Given the description of an element on the screen output the (x, y) to click on. 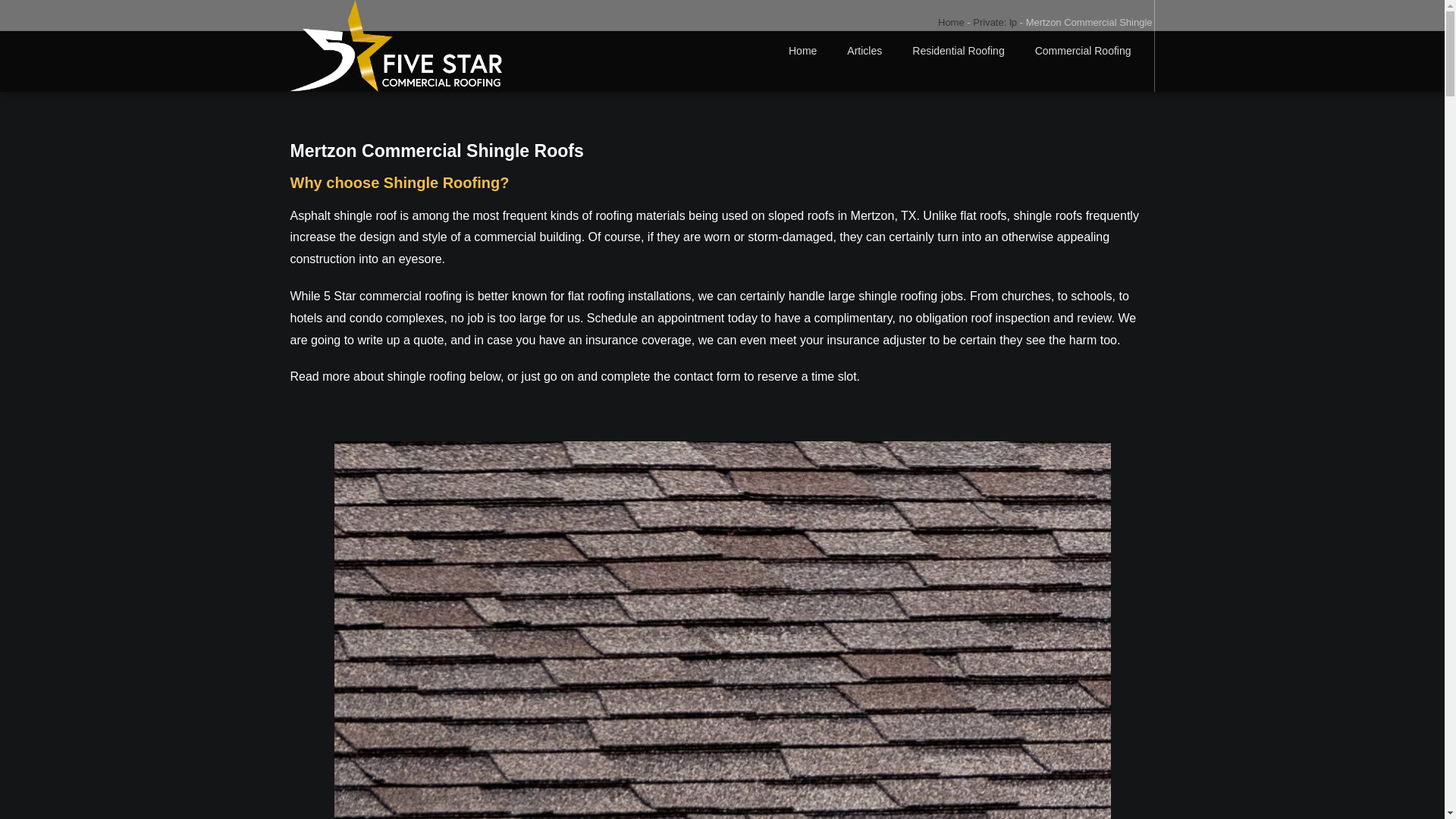
Home (802, 50)
White logo white lettering (394, 45)
Private: lp (994, 21)
Home (950, 21)
Commercial Roofing (1087, 50)
Residential Roofing (957, 50)
Articles (863, 50)
